Given the description of an element on the screen output the (x, y) to click on. 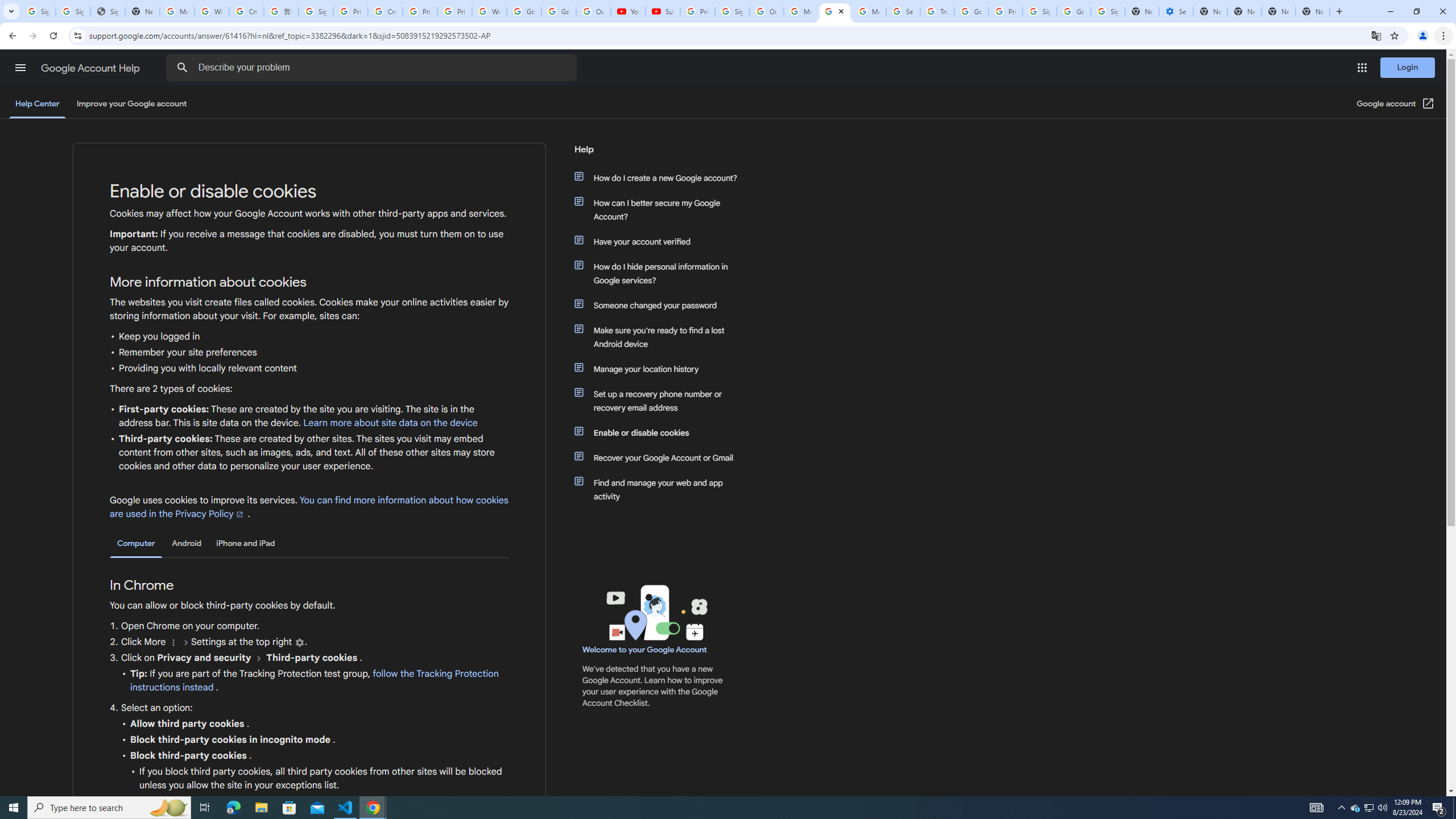
Sign in - Google Accounts (38, 11)
Sign in - Google Accounts (73, 11)
follow the Tracking Protection instructions instead (314, 680)
Computer (136, 543)
How do I hide personal information in Google services? (661, 273)
Enable or disable cookies (661, 432)
Main menu (20, 67)
Set up a recovery phone number or recovery email address (661, 400)
How can I better secure my Google Account? (661, 209)
Trusted Information and Content - Google Safety Center (937, 11)
